Given the description of an element on the screen output the (x, y) to click on. 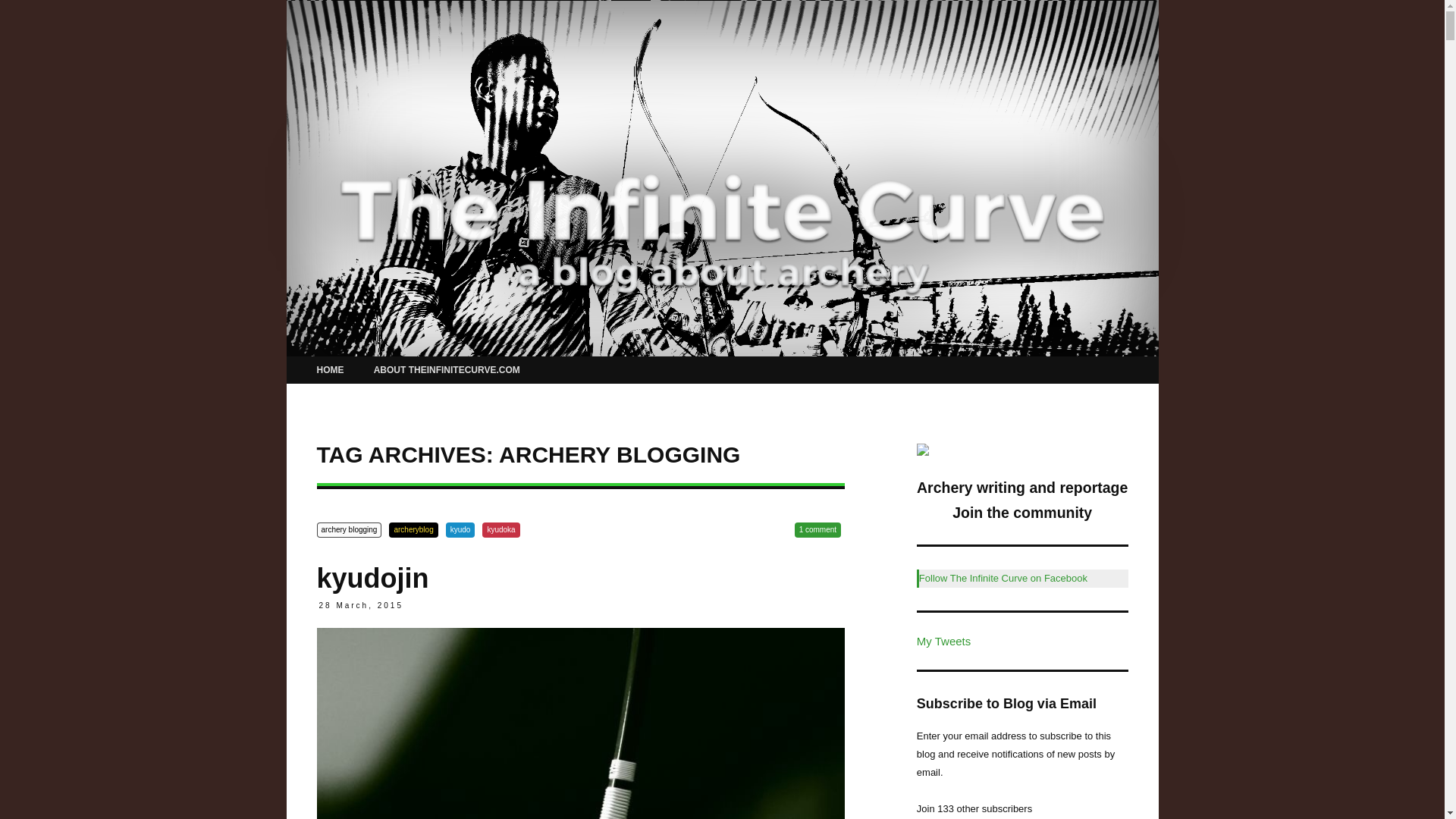
HOME (330, 370)
ABOUT THEINFINITECURVE.COM (446, 370)
about The Infinite Curve (922, 451)
archeryblog (413, 529)
1 comment (817, 529)
kyudoka (500, 529)
kyudojin (373, 577)
The Infinite Curve (440, 32)
kyudo (460, 529)
archery blogging (349, 529)
The Infinite Curve (440, 32)
